Given the description of an element on the screen output the (x, y) to click on. 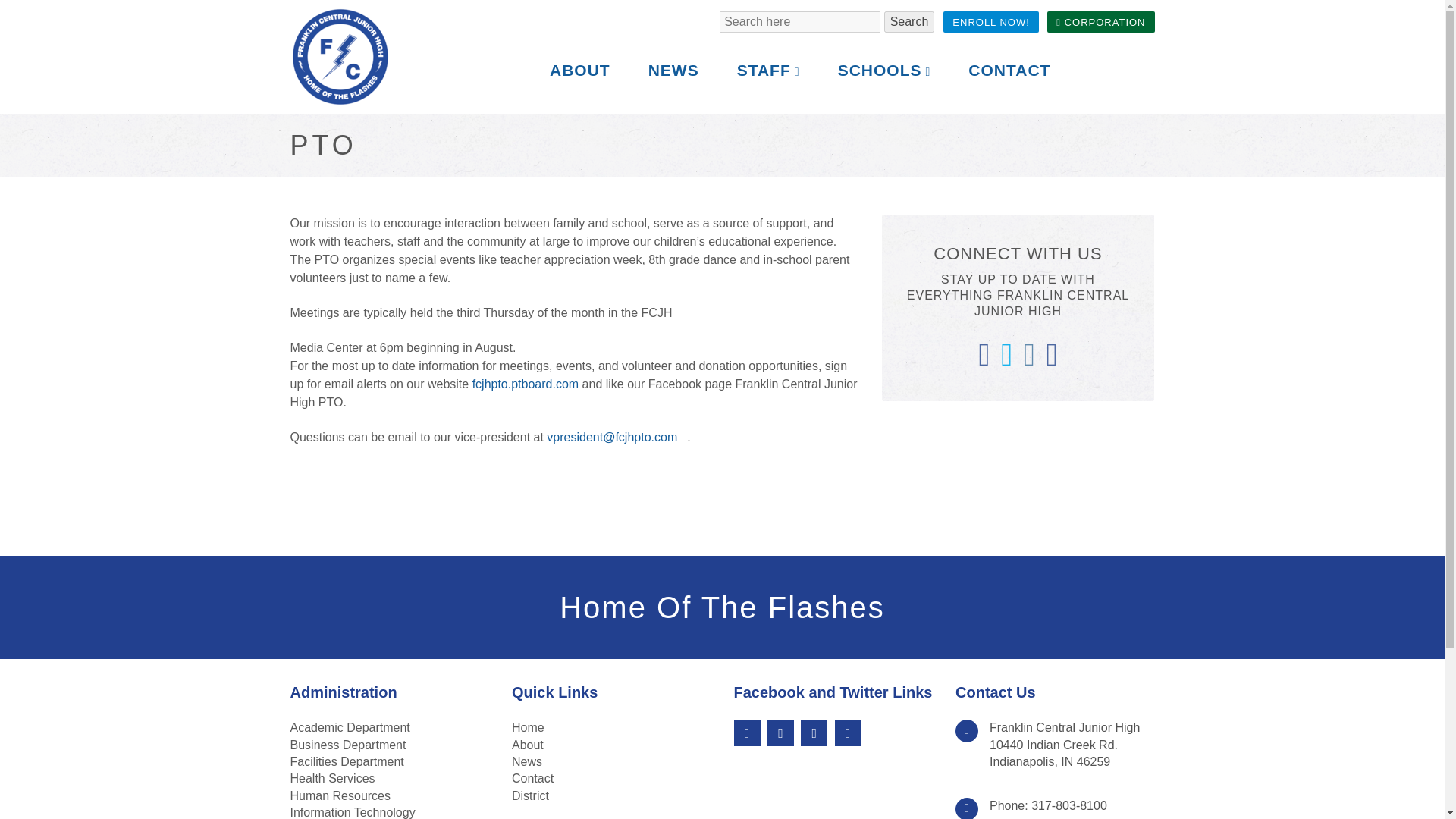
Our Twitter Profile (780, 732)
Information Technology (351, 812)
STAFF (767, 70)
Health Services (331, 778)
Our Facebook Page (746, 732)
fcjhpto.ptboard.com (525, 383)
Facilities Department (346, 761)
Business Department (1100, 21)
Our Instagram (347, 744)
